Given the description of an element on the screen output the (x, y) to click on. 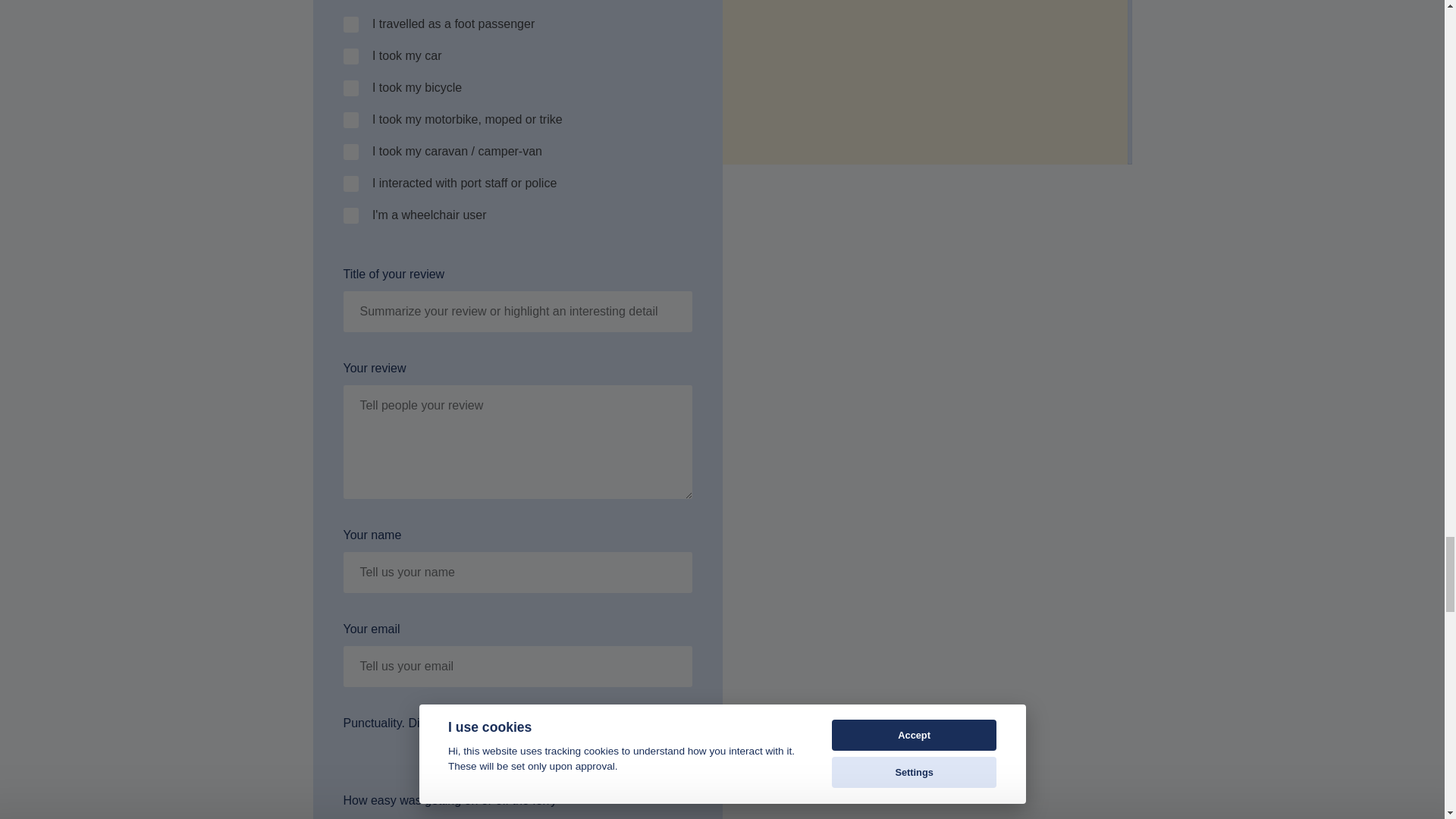
Wheelchair user (350, 215)
Foot passenger (350, 24)
Traveled with a bicycle (350, 88)
Traveled with a car (350, 56)
I interacted with port staff or police (350, 183)
